Given the description of an element on the screen output the (x, y) to click on. 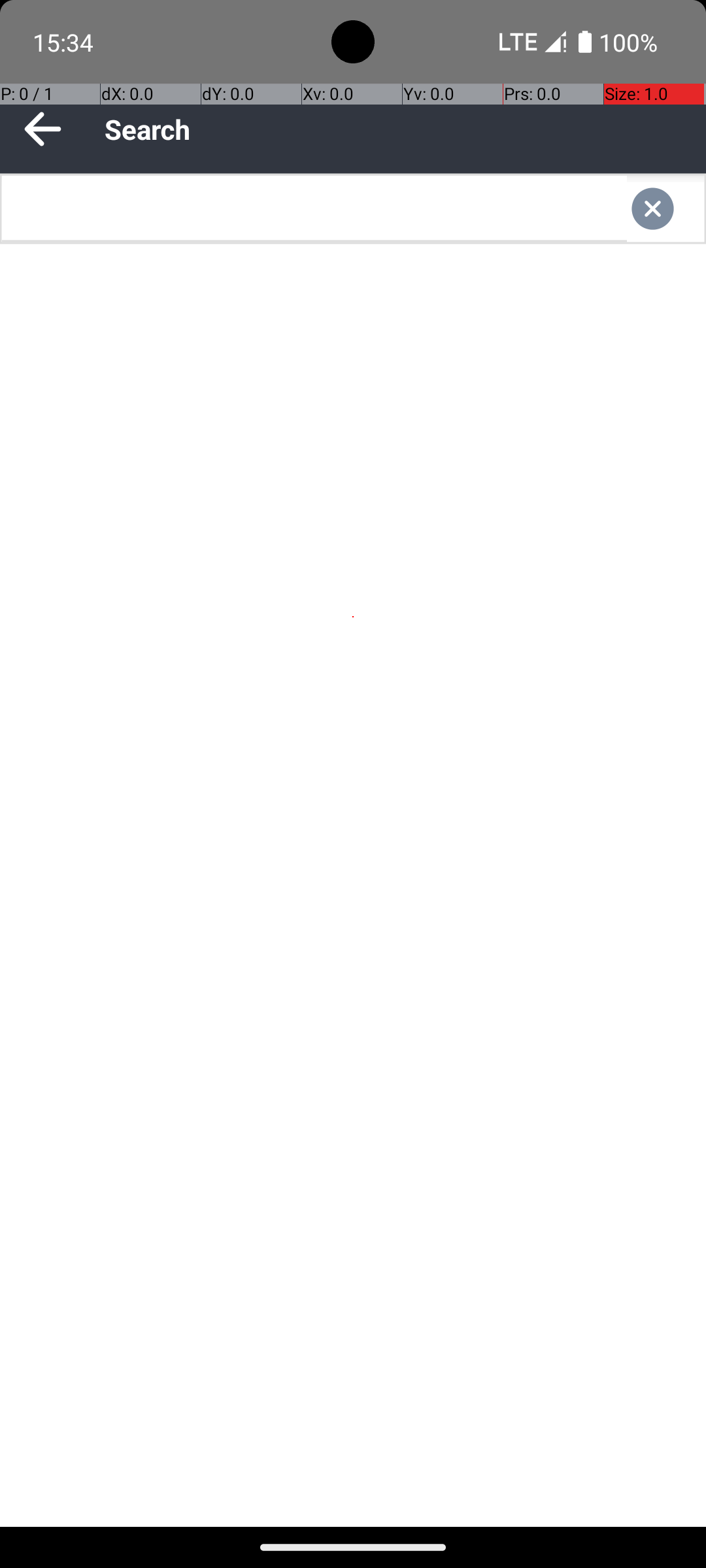
 Element type: android.widget.TextView (665, 208)
